Given the description of an element on the screen output the (x, y) to click on. 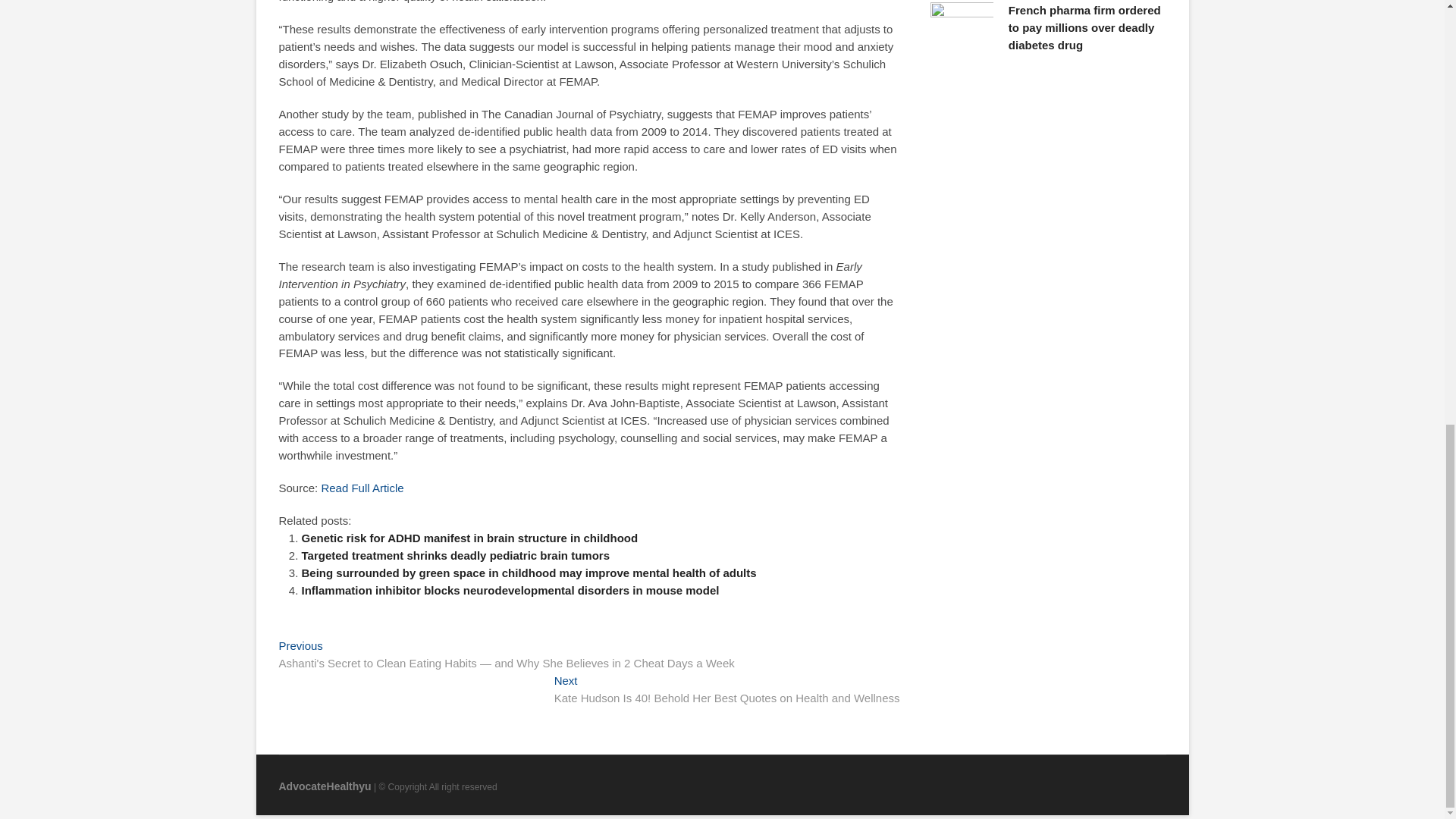
Targeted treatment shrinks deadly pediatric brain tumors (455, 554)
Read Full Article (361, 487)
Targeted treatment shrinks deadly pediatric brain tumors (455, 554)
